Given the description of an element on the screen output the (x, y) to click on. 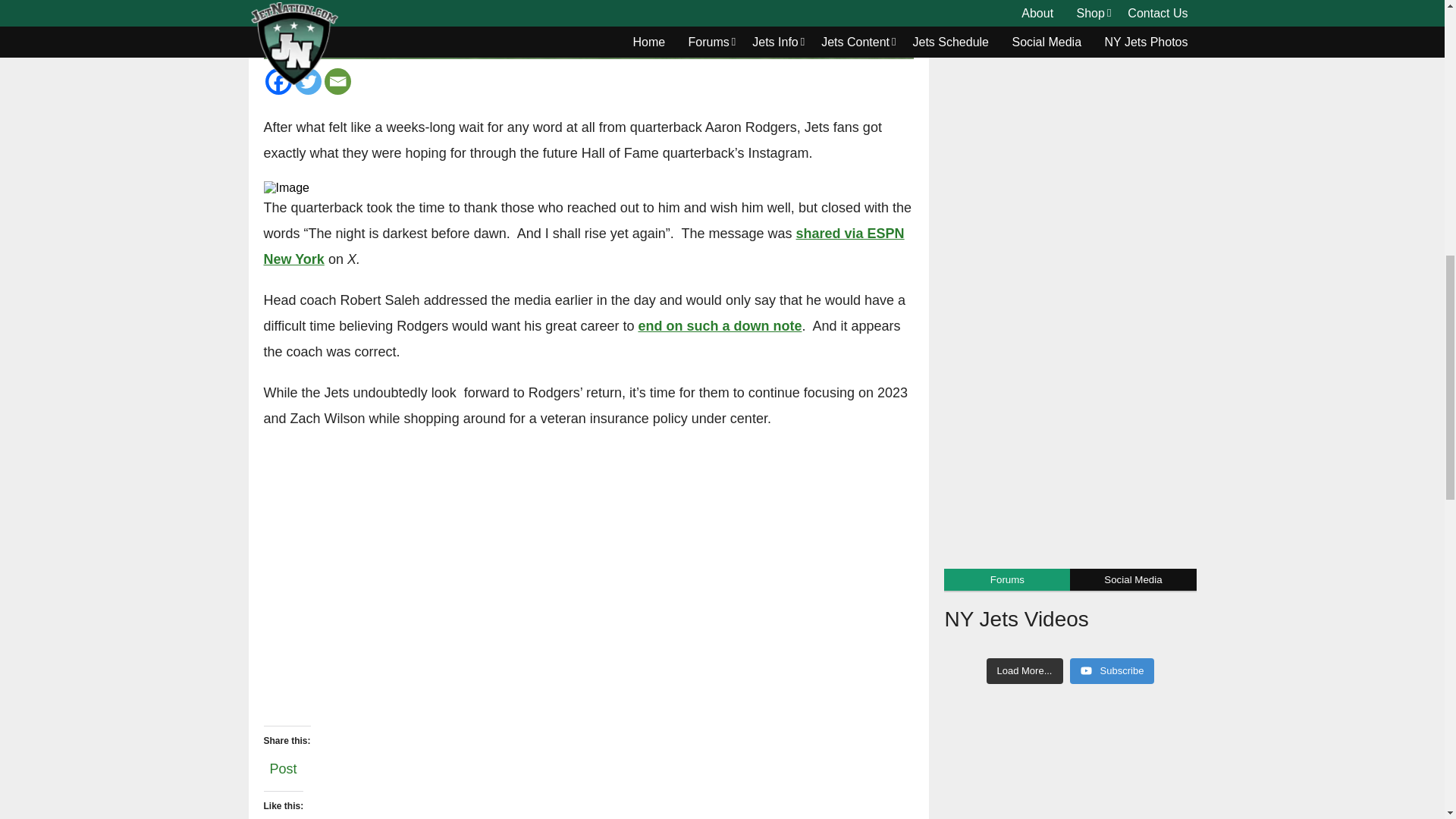
Facebook (278, 81)
Twitter (307, 81)
Email (337, 81)
